Given the description of an element on the screen output the (x, y) to click on. 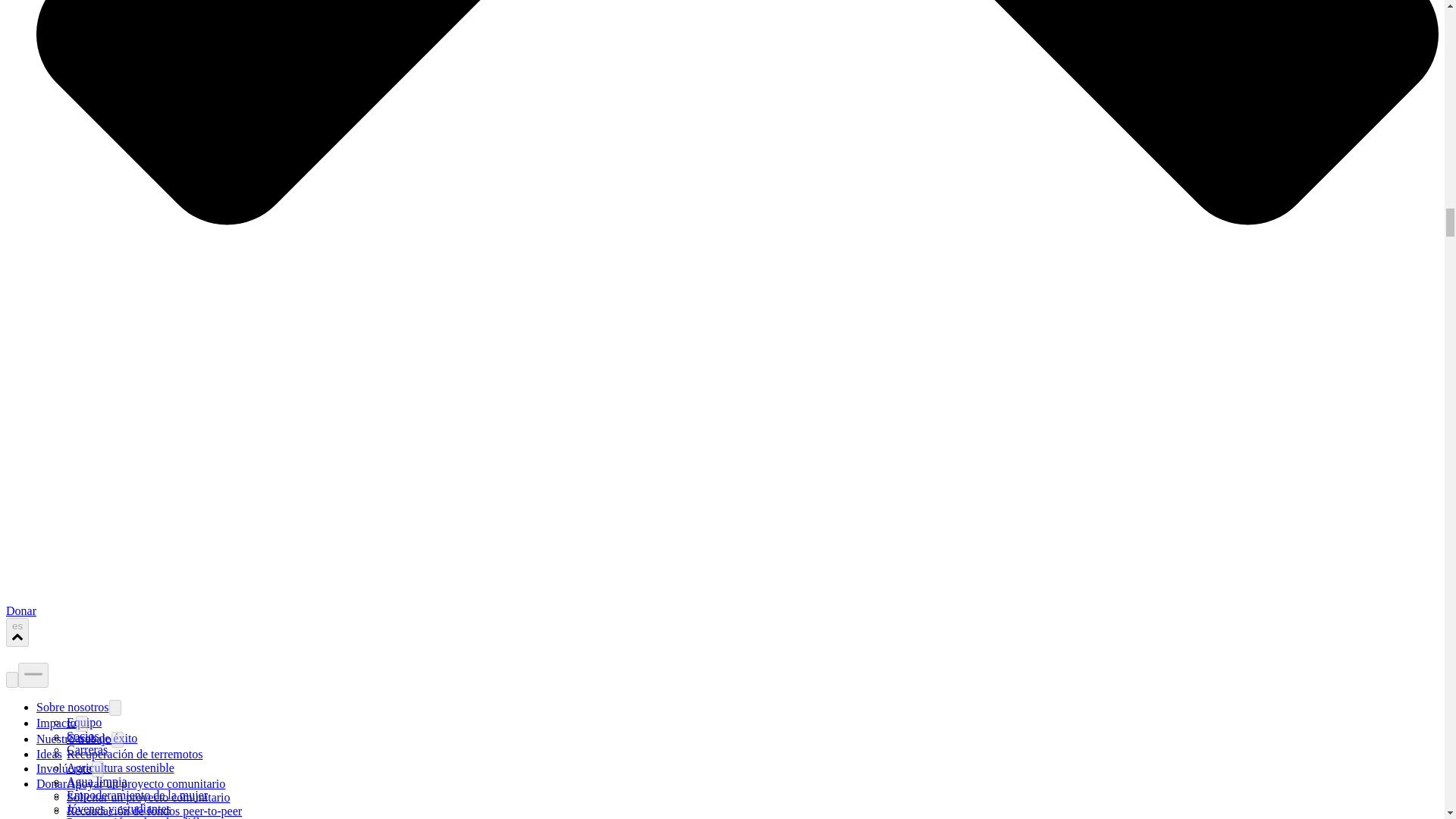
Sobre nosotros (72, 707)
Impacto (55, 722)
Donar (20, 610)
Socios (82, 735)
Equipo (83, 721)
Carreras (86, 748)
es (17, 632)
